Given the description of an element on the screen output the (x, y) to click on. 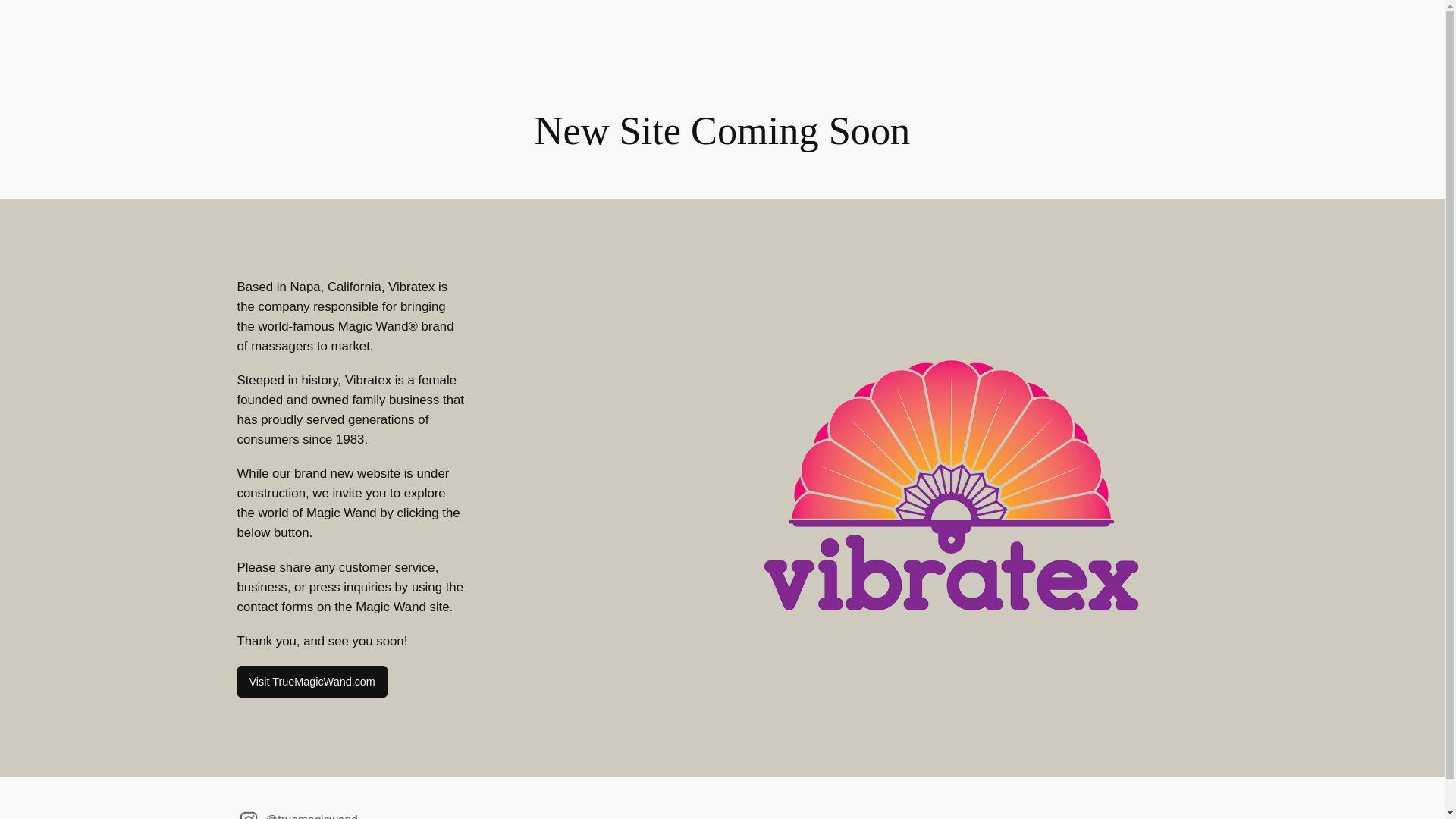
Visit TrueMagicWand.com (311, 681)
